Given the description of an element on the screen output the (x, y) to click on. 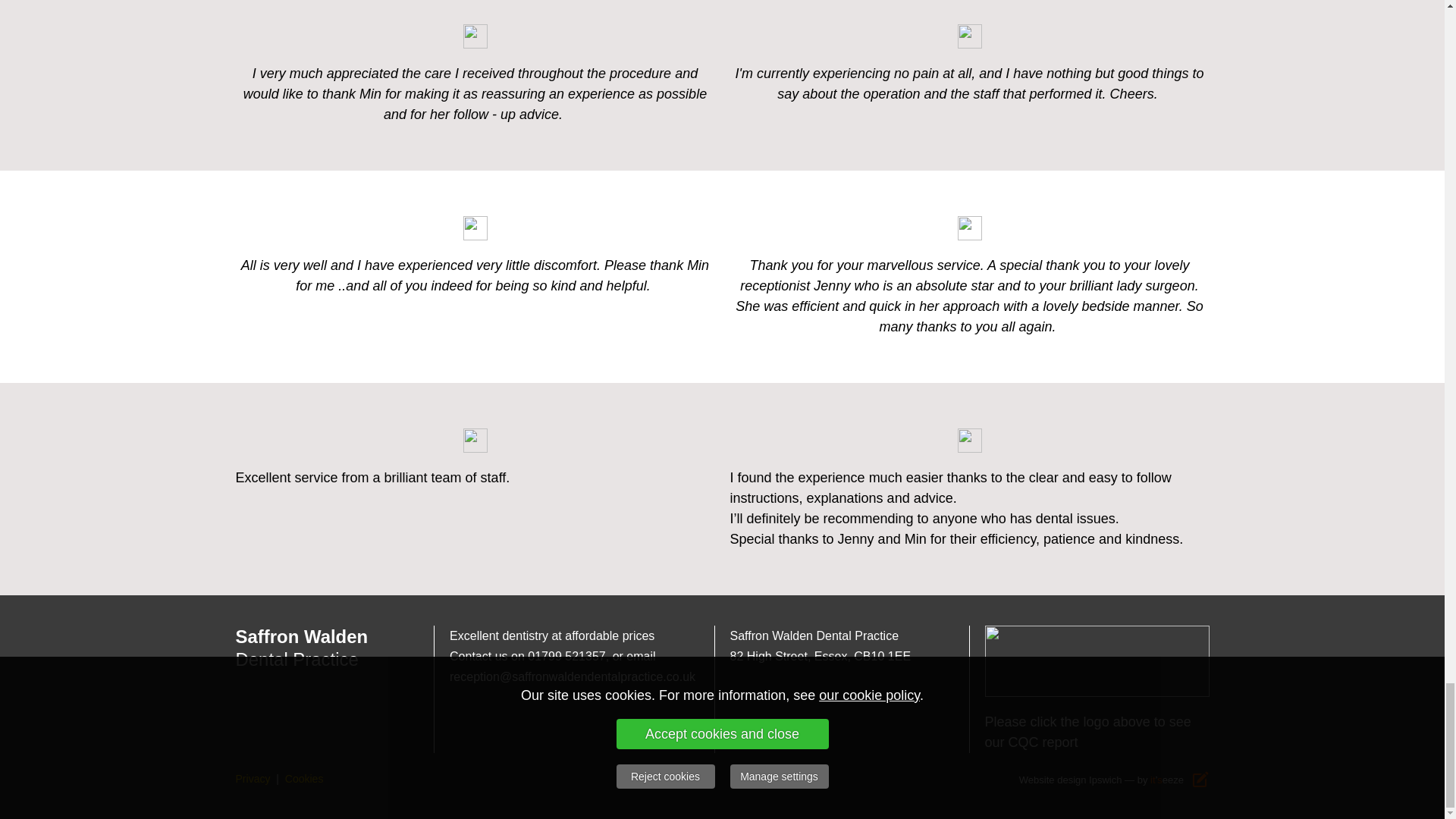
Cookies (304, 777)
Privacy (251, 777)
Dental Practice (296, 661)
Website design Ipswich (1070, 778)
Saffron Walden (301, 638)
